Given the description of an element on the screen output the (x, y) to click on. 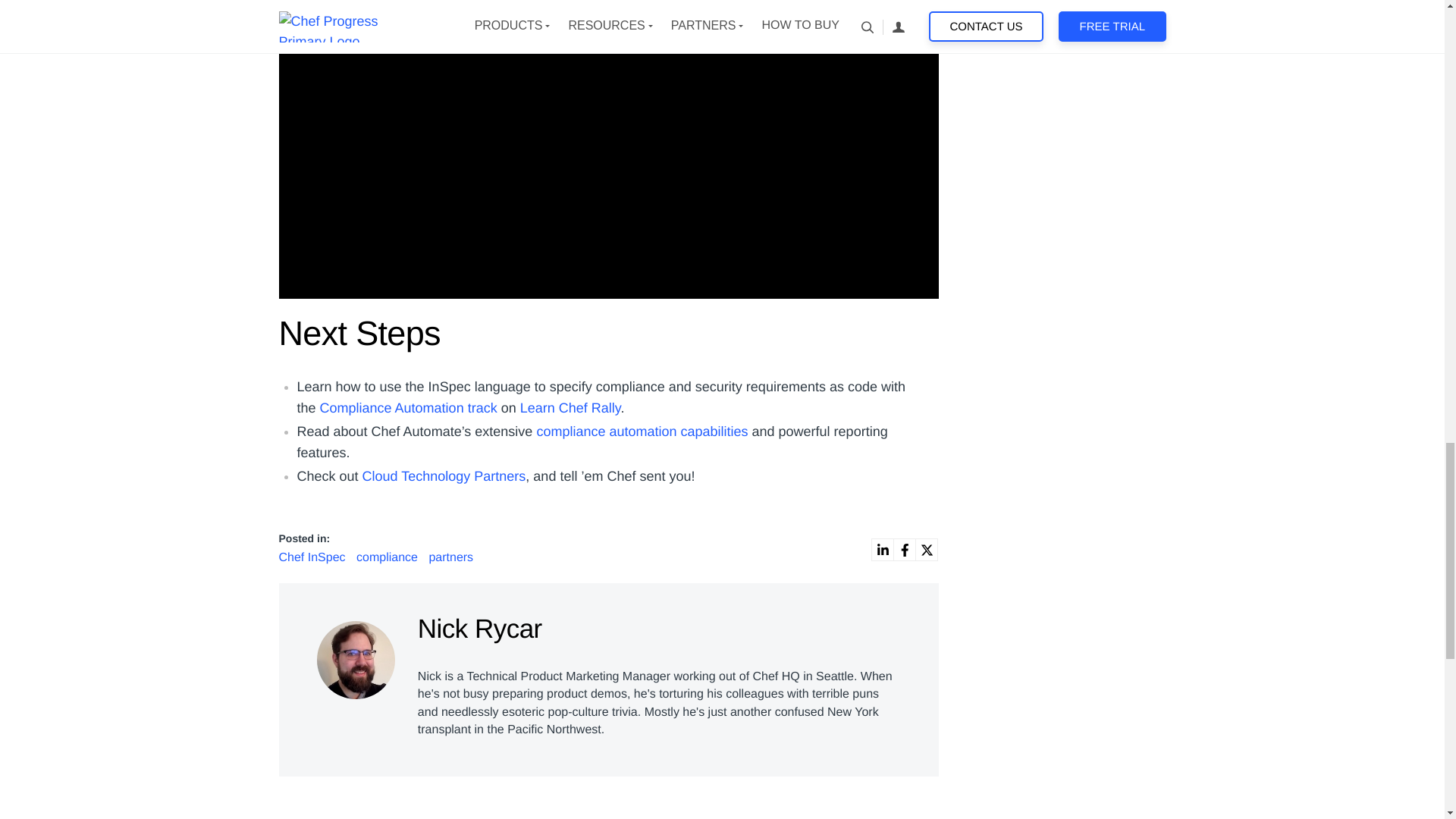
Chef InSpec (314, 557)
nick-rycar (355, 659)
Nick Rycar (355, 656)
compliance (388, 557)
partners (450, 557)
